Given the description of an element on the screen output the (x, y) to click on. 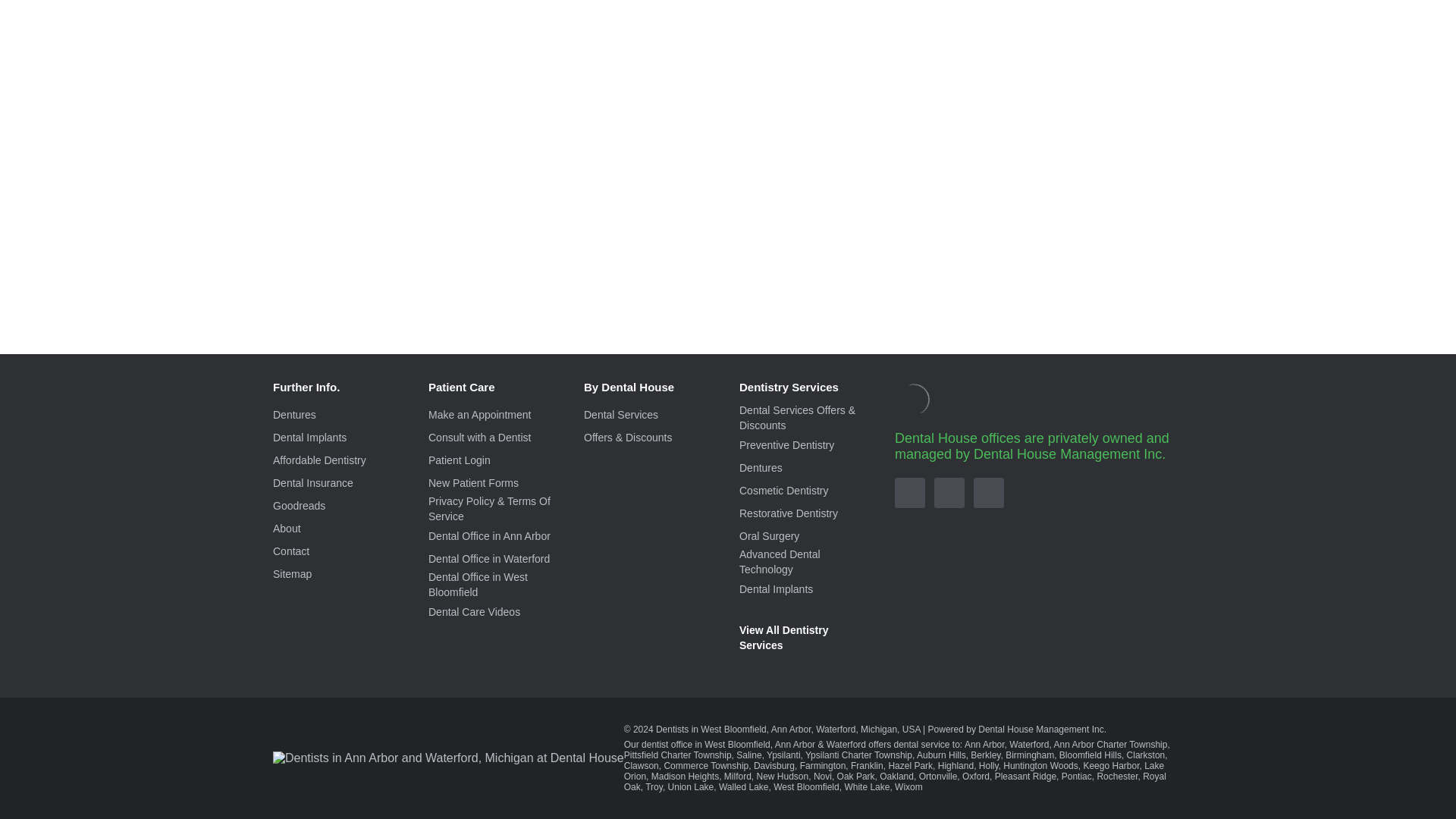
Dentist in Clarkston, MI (1146, 755)
Dentist in Pittsfield Charter Township, MI (678, 755)
Dentist in Auburn Hills, MI (941, 755)
Dentist in Berkley, MI (985, 755)
Dentist in Bloomfield Hills, MI (1090, 755)
Dentist in Ypsilanti, MI (783, 755)
Dentist in Ann Arbor, MI (983, 744)
Dentist in Waterford, MI (1028, 744)
Dentist in Birmingham, MI (1030, 755)
Dentist in Ann Arbor Charter Township, MI (1110, 744)
Dentist in Saline, MI (748, 755)
Dentist in Ypsilanti Charter Township, MI (858, 755)
